Given the description of an element on the screen output the (x, y) to click on. 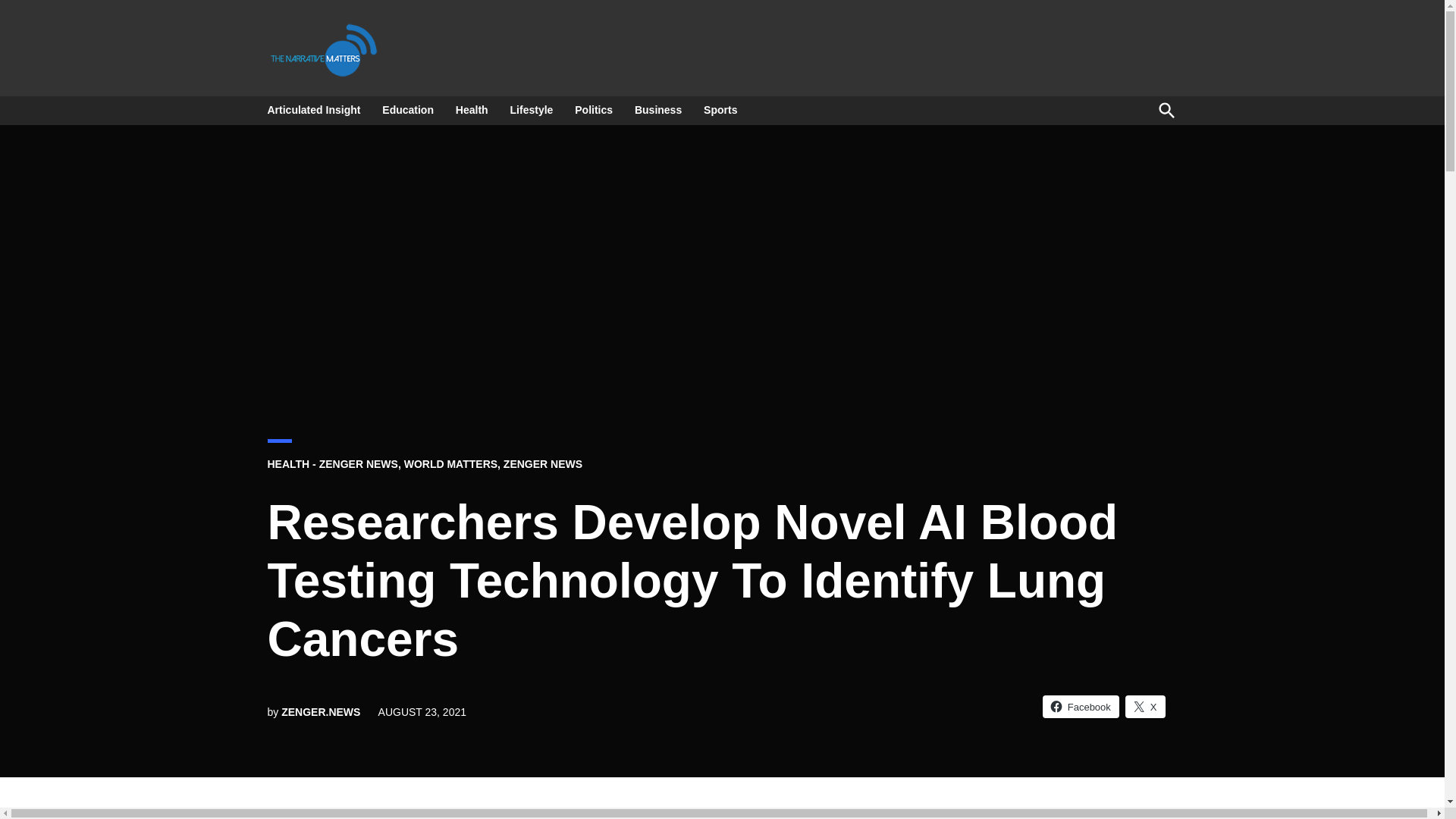
Lifestyle (531, 109)
Politics (593, 109)
Business (657, 109)
Education (407, 109)
ZENGER.NEWS (320, 711)
X (1145, 705)
Sports (719, 109)
Click to share on Facebook (1080, 705)
HEALTH - ZENGER NEWS (331, 463)
Click to share on X (1145, 705)
Facebook (1080, 705)
WORLD MATTERS (450, 463)
The Narrative Matters (426, 83)
Articulated Insight (317, 109)
ZENGER NEWS (542, 463)
